Given the description of an element on the screen output the (x, y) to click on. 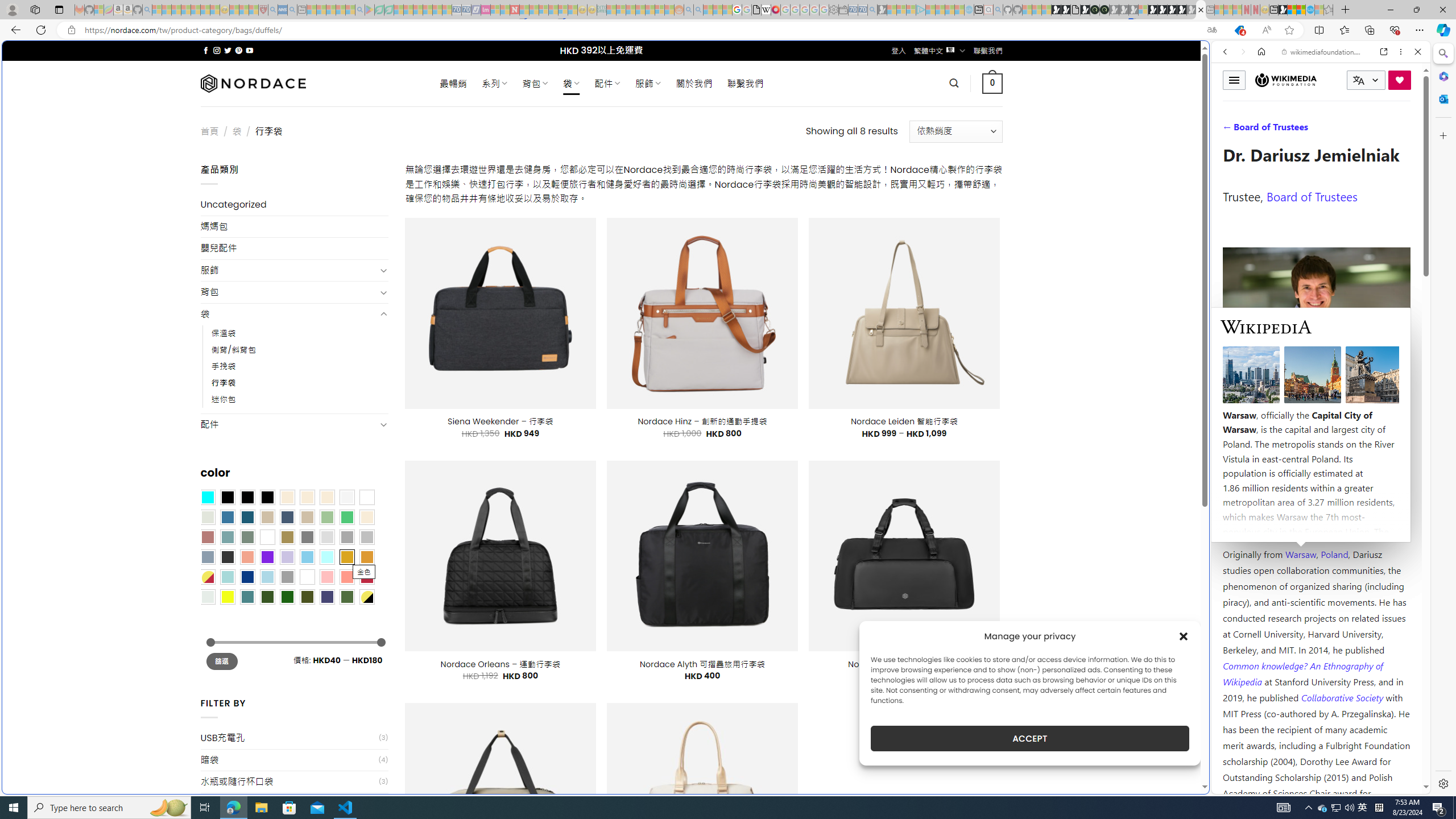
Common knowledge? An Ethnography of Wikipedia (1302, 672)
Follow on Twitter (227, 50)
Poland (1334, 554)
Class: i icon icon-translate language-switcher__icon (1358, 80)
